Given the description of an element on the screen output the (x, y) to click on. 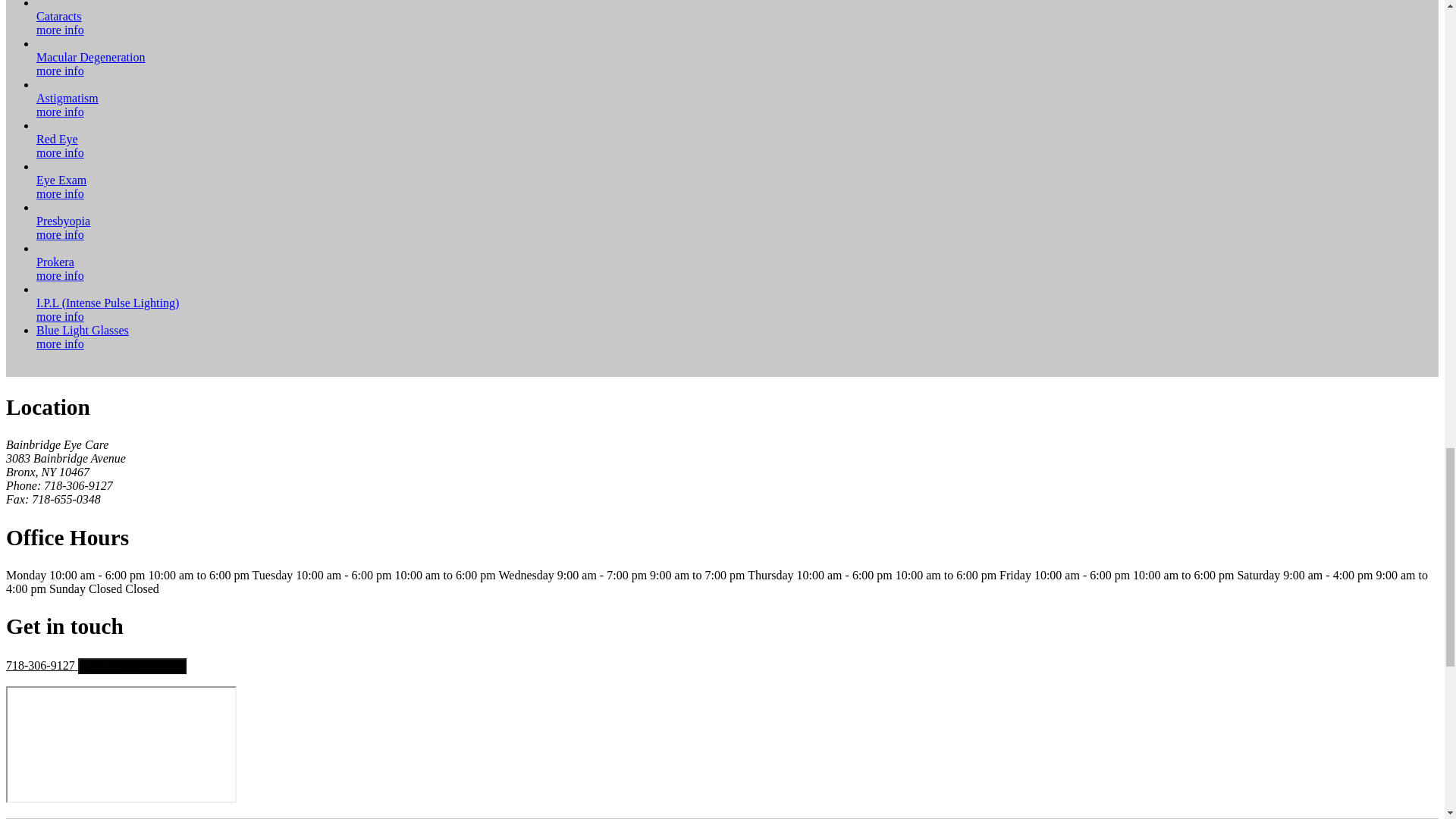
Map of Bronx (120, 744)
